Given the description of an element on the screen output the (x, y) to click on. 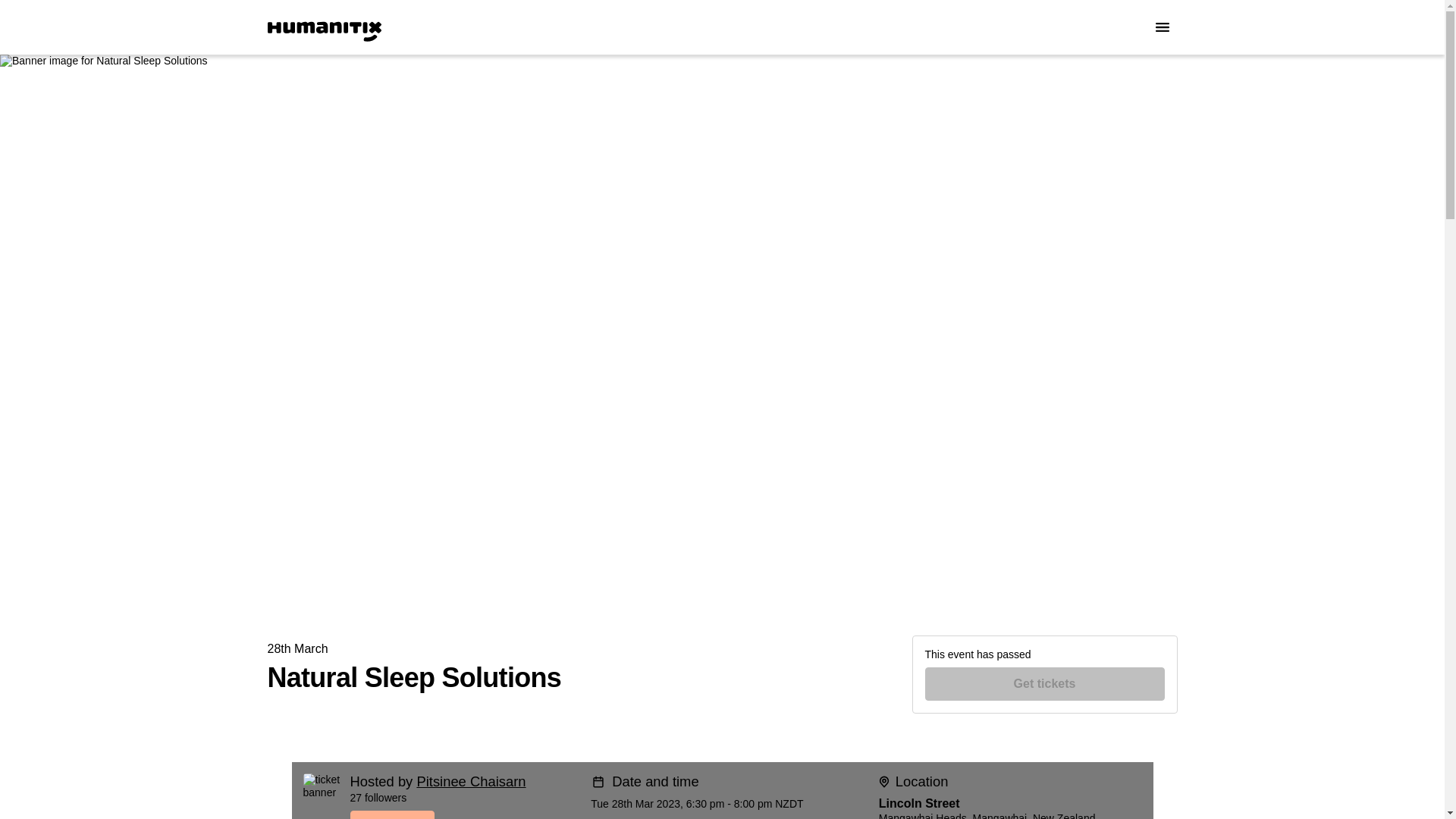
Follow (465, 814)
Get tickets (1044, 684)
Skip to Content (18, 18)
Pitsinee Chaisarn (470, 781)
